Given the description of an element on the screen output the (x, y) to click on. 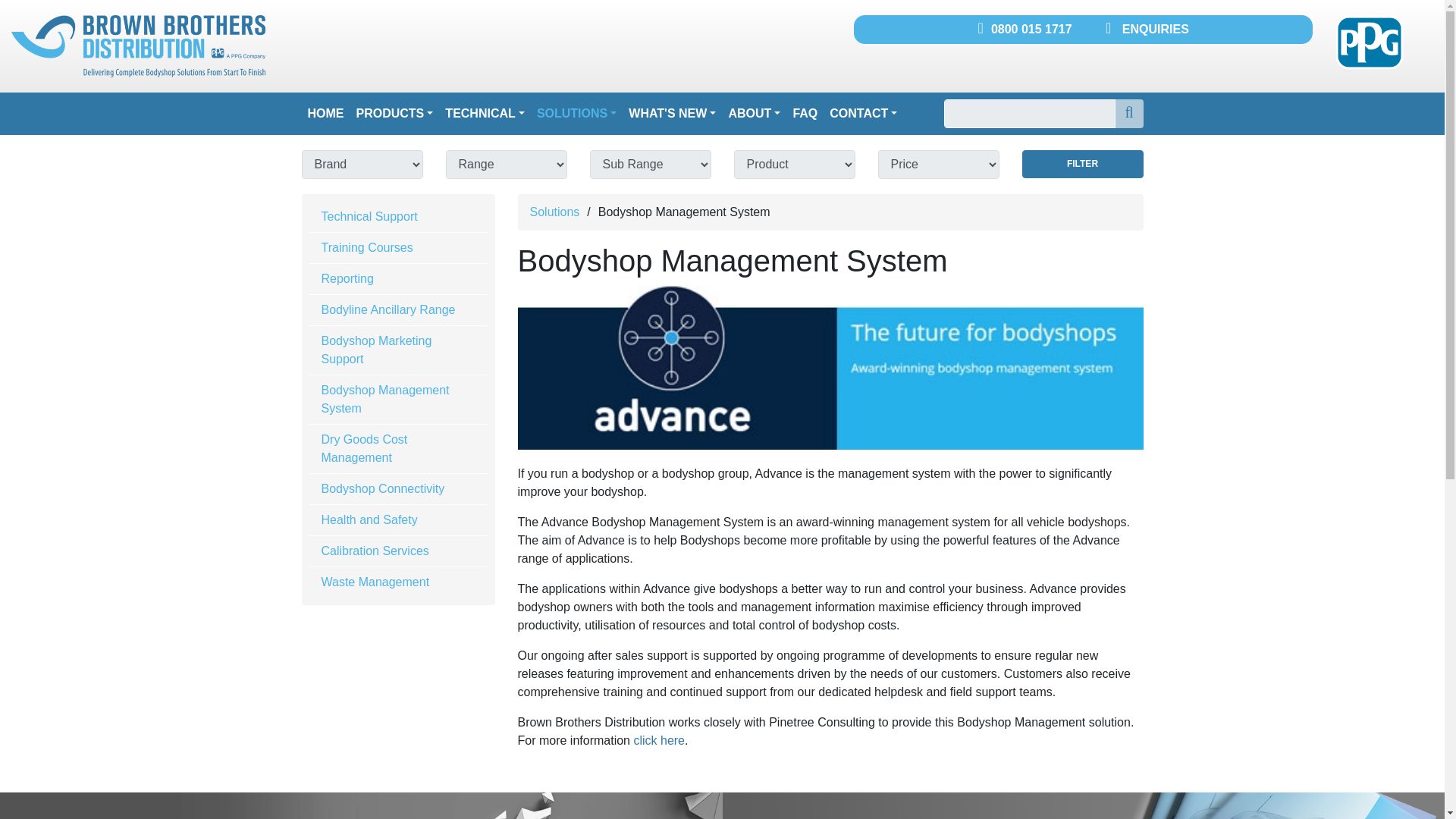
Bodyshop Management System (829, 367)
Search (1082, 163)
0800 015 1717 (1024, 29)
Our locations - find your local branch (361, 805)
0800 015 1717 ENQUIRIES (1083, 29)
Brown Brothers Distribution (137, 45)
ENQUIRIES (1147, 29)
PRODUCTS (394, 113)
Filter (1082, 163)
PPG (1369, 42)
